Given the description of an element on the screen output the (x, y) to click on. 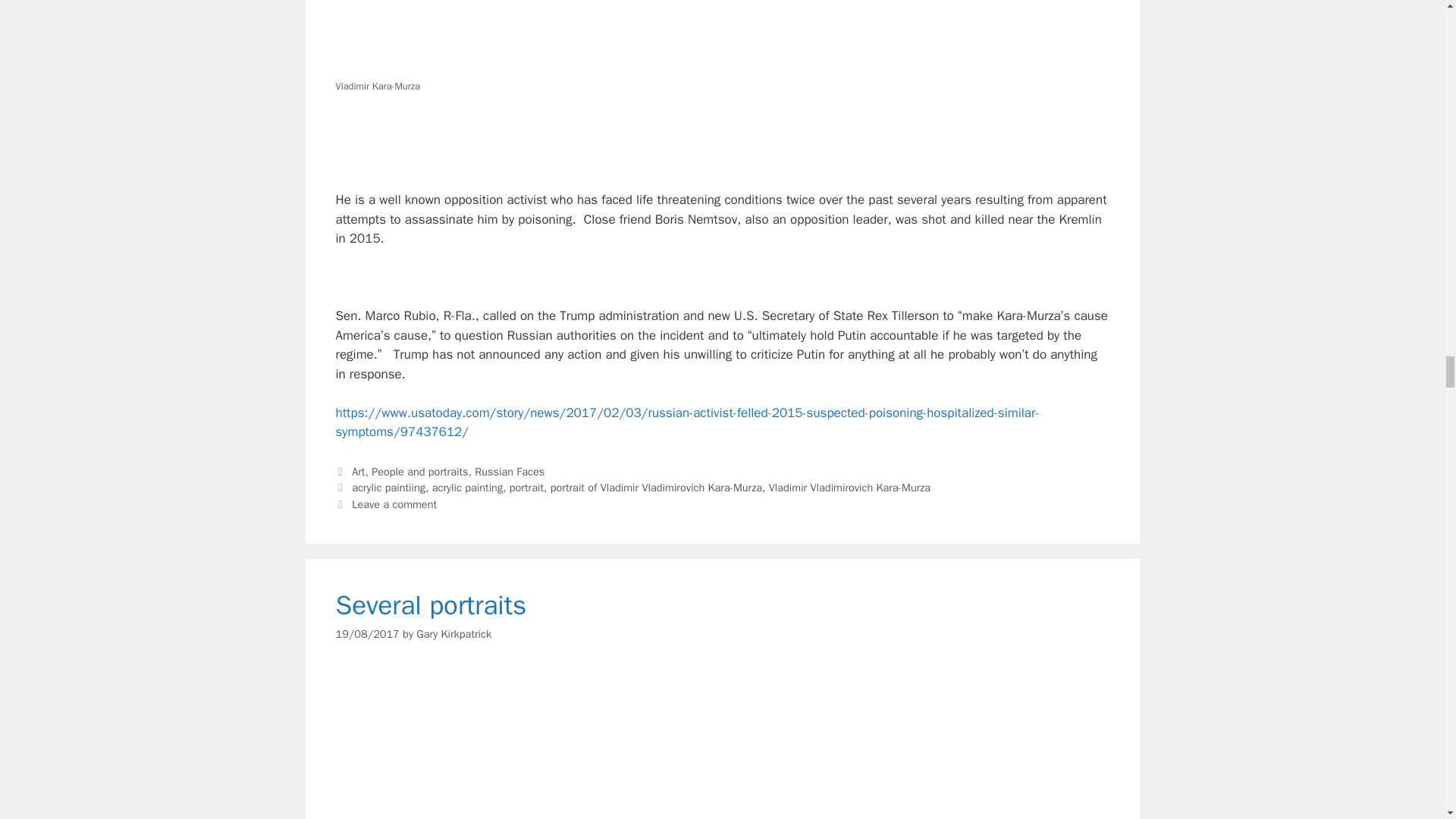
View all posts by Gary Kirkpatrick (454, 633)
